Given the description of an element on the screen output the (x, y) to click on. 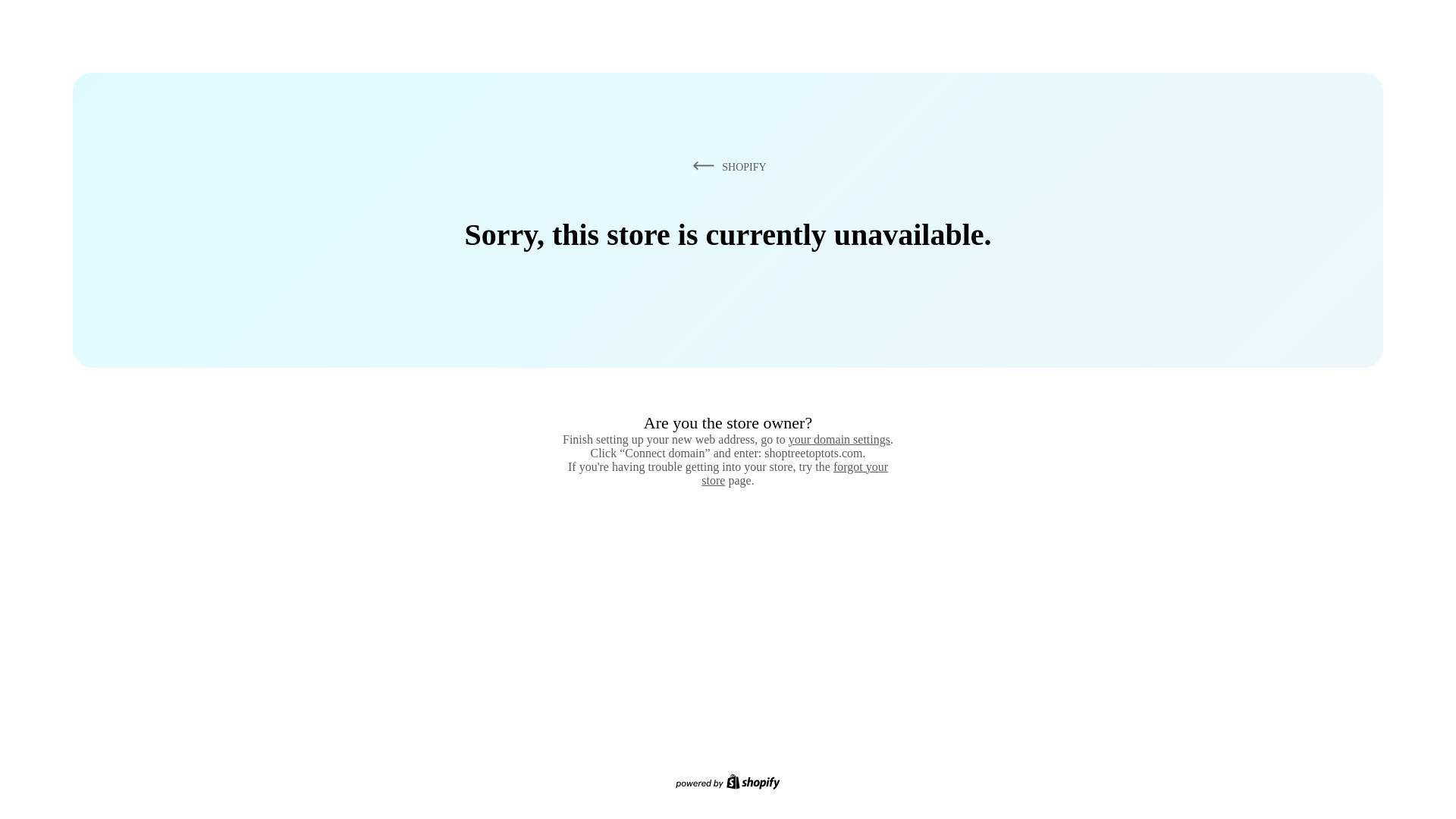
forgot your store (794, 473)
SHOPIFY (726, 166)
your domain settings (839, 439)
